Given the description of an element on the screen output the (x, y) to click on. 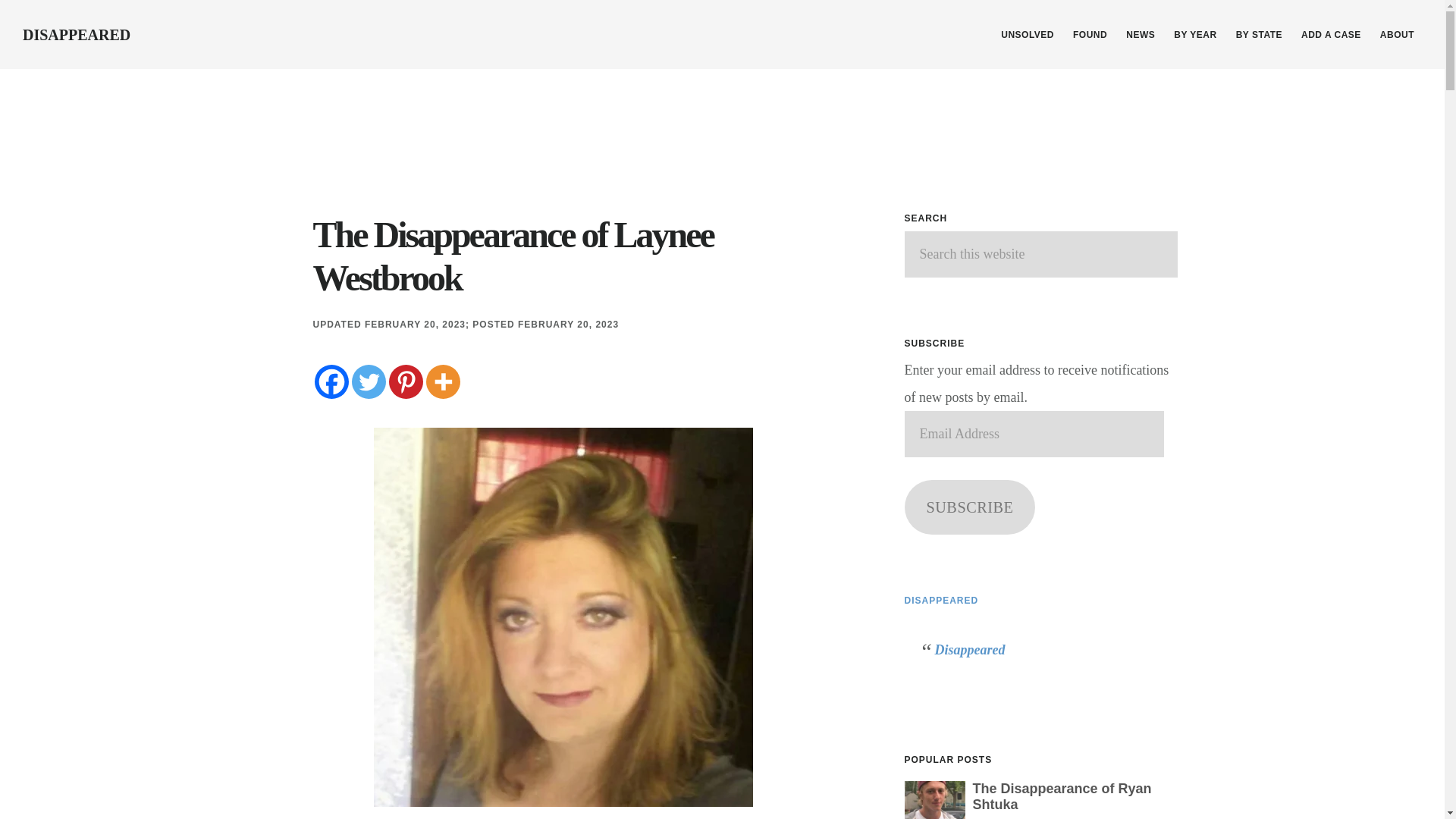
FOUND (1090, 34)
UNSOLVED (1026, 34)
More (443, 381)
ABOUT (1397, 34)
Pinterest (405, 381)
DISAPPEARED (77, 34)
NEWS (1139, 34)
Facebook (330, 381)
BY YEAR (1195, 34)
Twitter (368, 381)
BY STATE (1259, 34)
ADD A CASE (1331, 34)
